Given the description of an element on the screen output the (x, y) to click on. 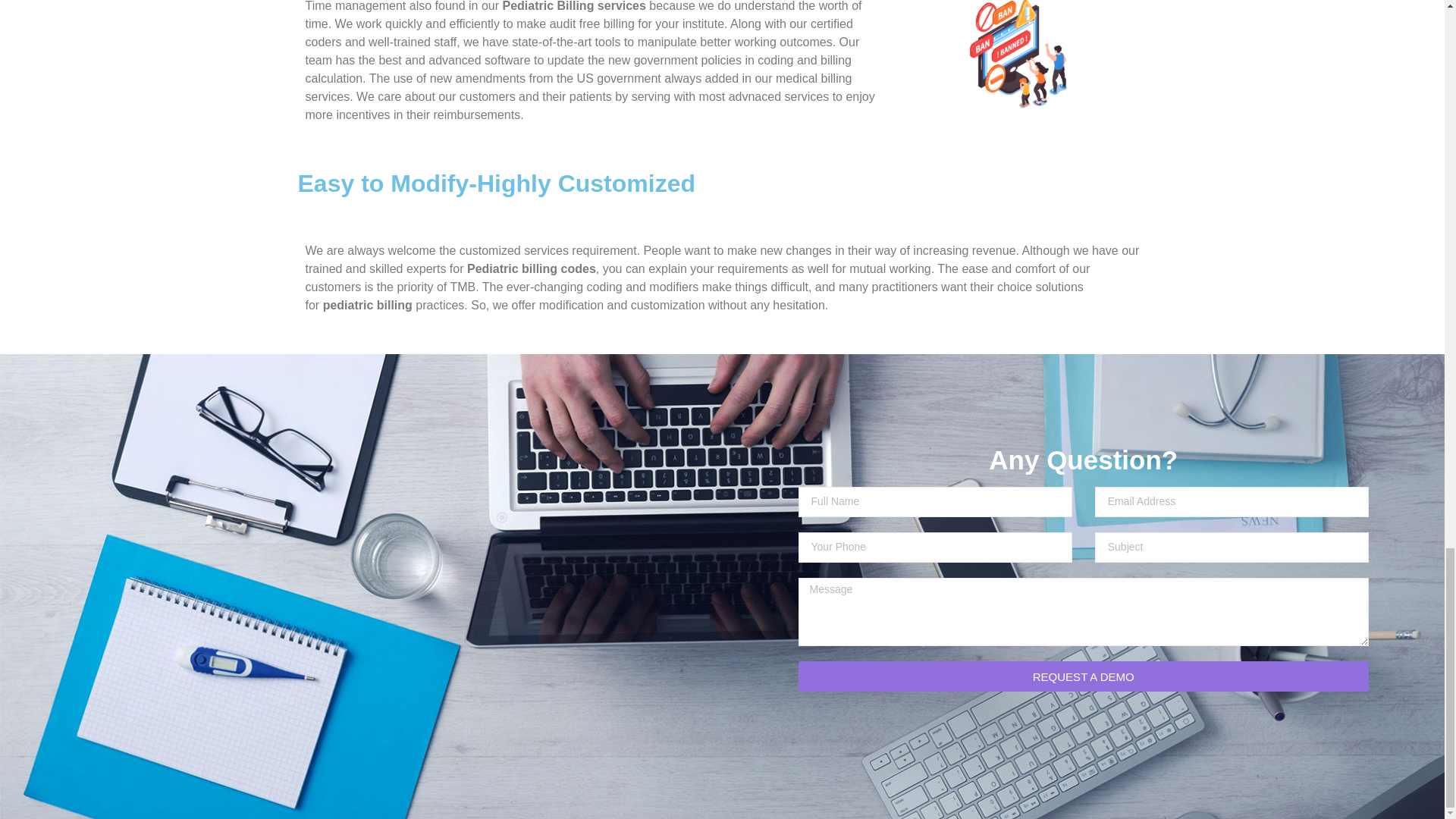
REQUEST A DEMO (1082, 675)
